Given the description of an element on the screen output the (x, y) to click on. 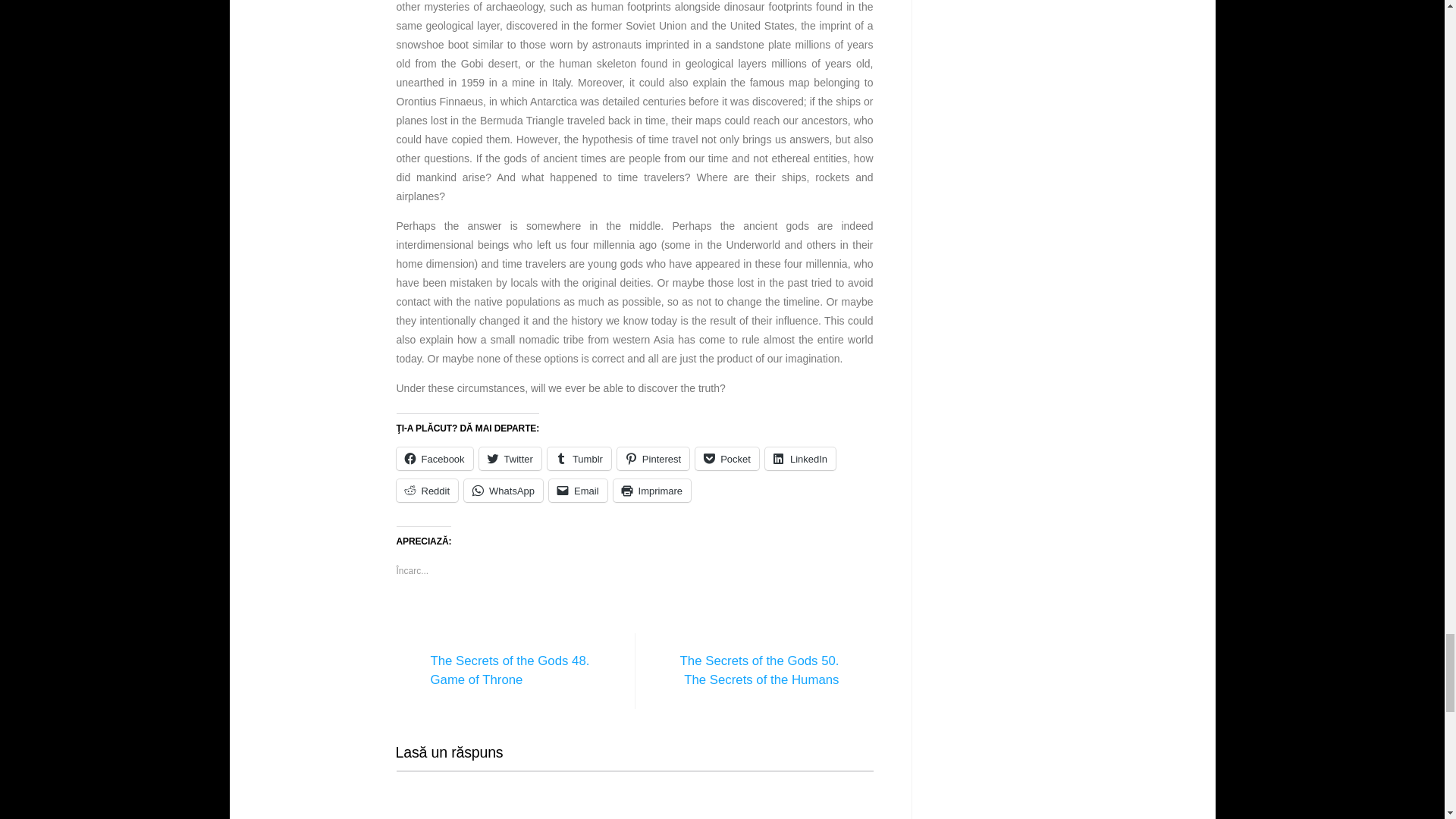
WhatsApp (503, 490)
Pocket (726, 458)
Reddit (427, 490)
LinkedIn (800, 458)
Facebook (433, 458)
Twitter (510, 458)
Tumblr (579, 458)
Pinterest (652, 458)
